Given the description of an element on the screen output the (x, y) to click on. 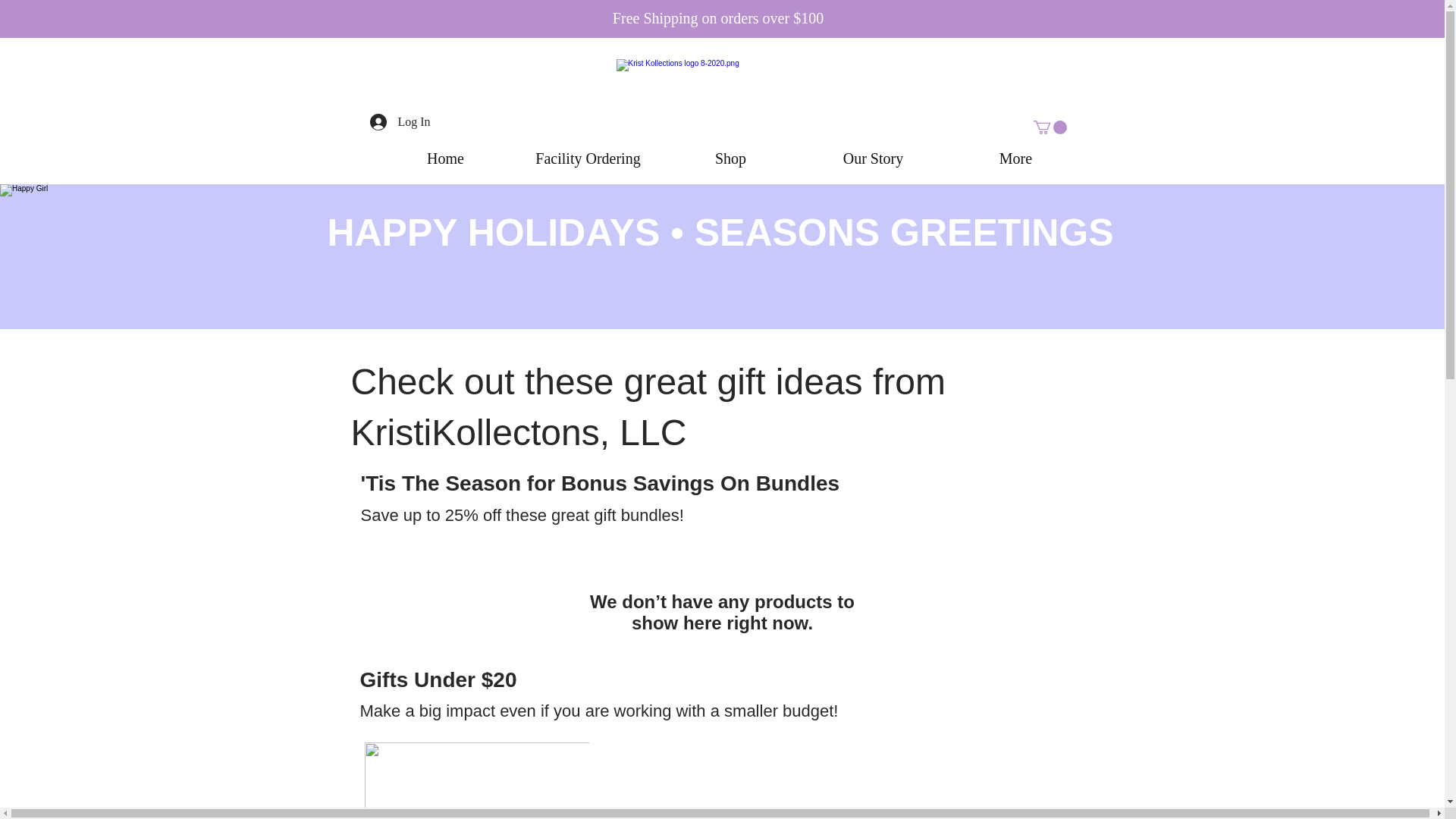
Our Story (873, 158)
Home (445, 158)
Log In (400, 121)
Shop (730, 158)
Facility Ordering (587, 158)
